Given the description of an element on the screen output the (x, y) to click on. 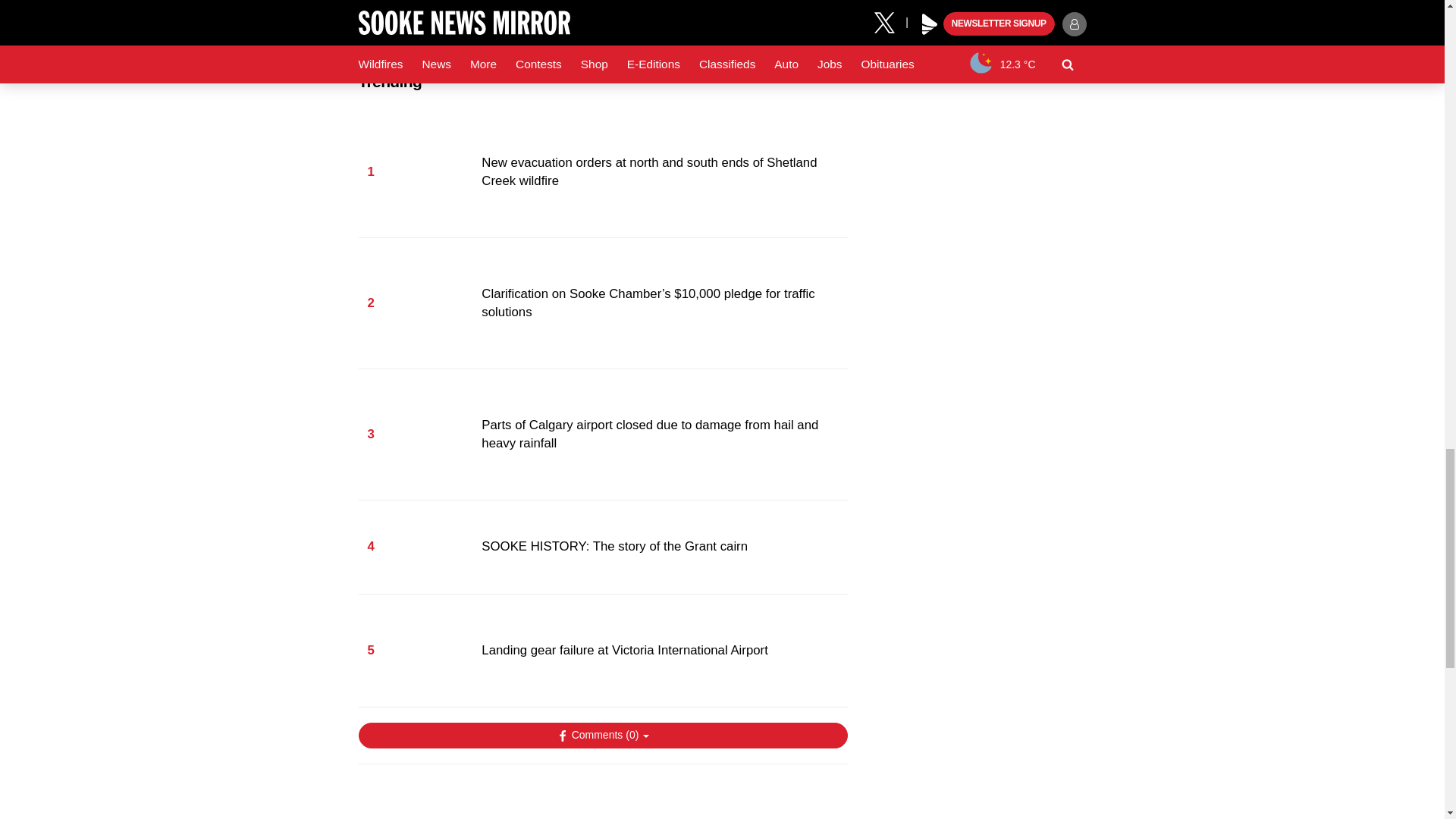
Show Comments (602, 735)
